Given the description of an element on the screen output the (x, y) to click on. 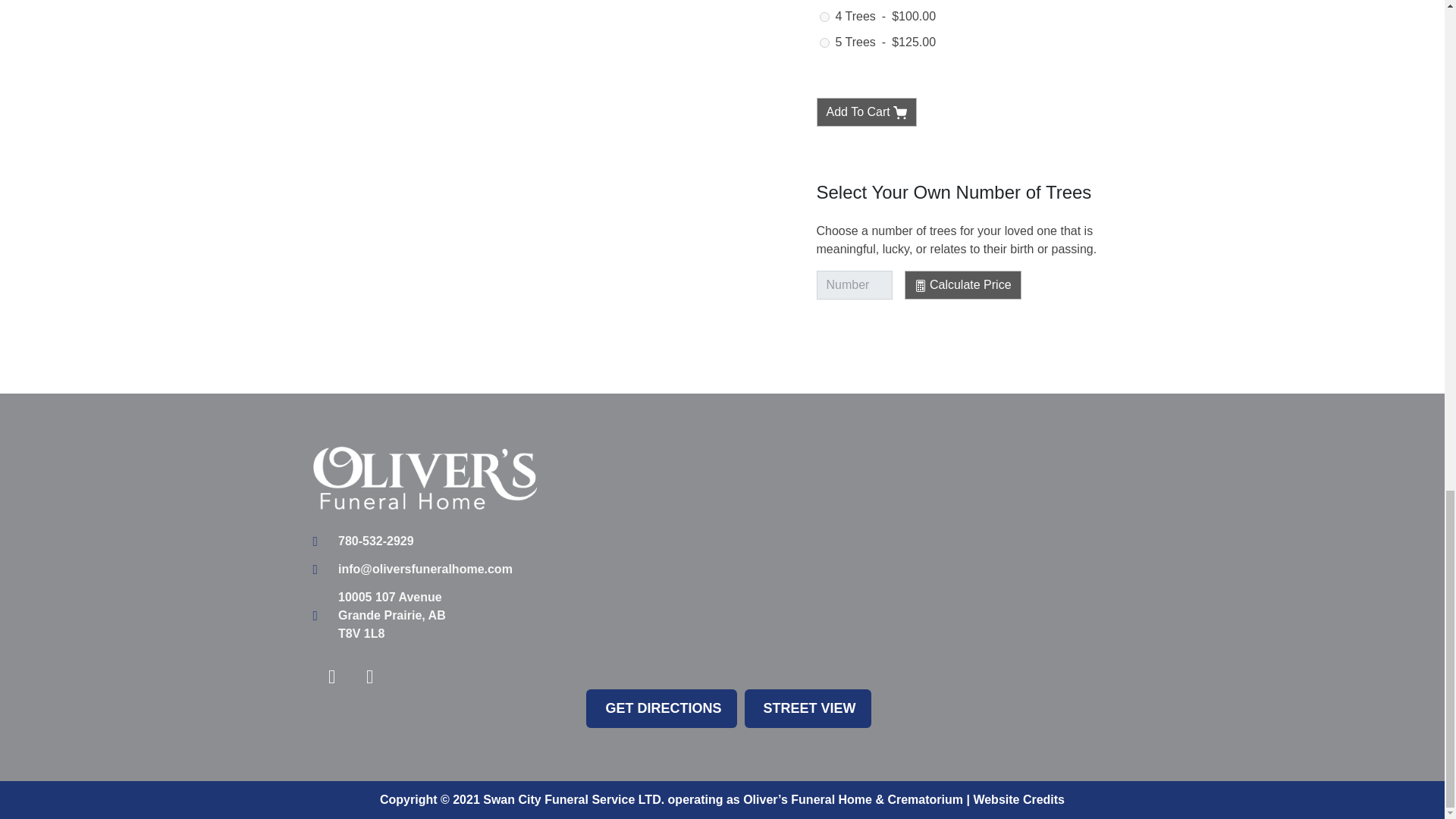
4 (823, 17)
5 (823, 42)
Oliver's Funeral Home Grande Prairie (856, 560)
